Given the description of an element on the screen output the (x, y) to click on. 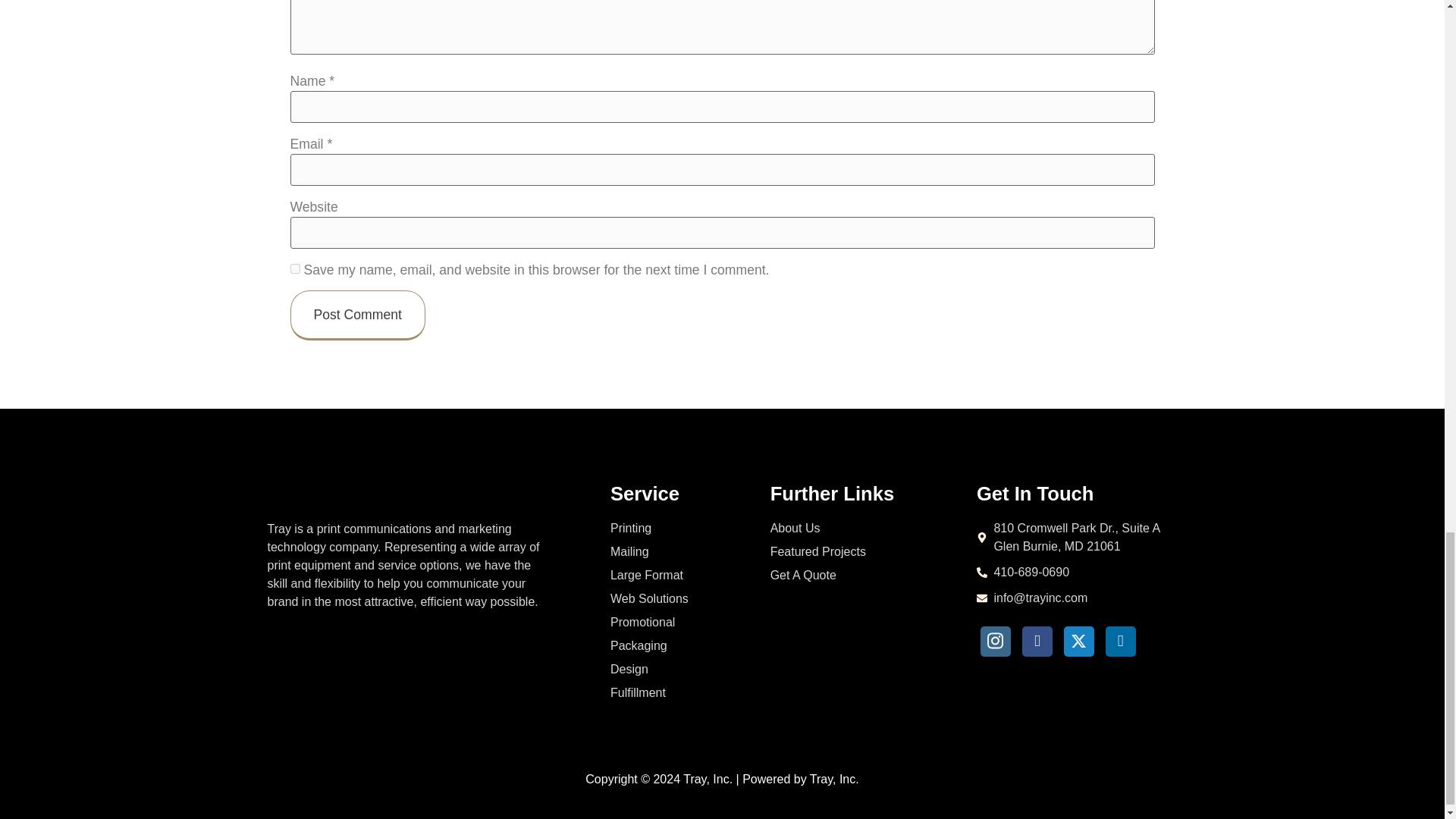
Get A Quote (861, 575)
Post Comment (357, 315)
Packaging (667, 646)
Featured Projects (861, 551)
Fulfillment (667, 692)
Large Format (667, 575)
yes (294, 268)
Printing (667, 528)
Web Solutions (667, 598)
Promotional (667, 622)
